Given the description of an element on the screen output the (x, y) to click on. 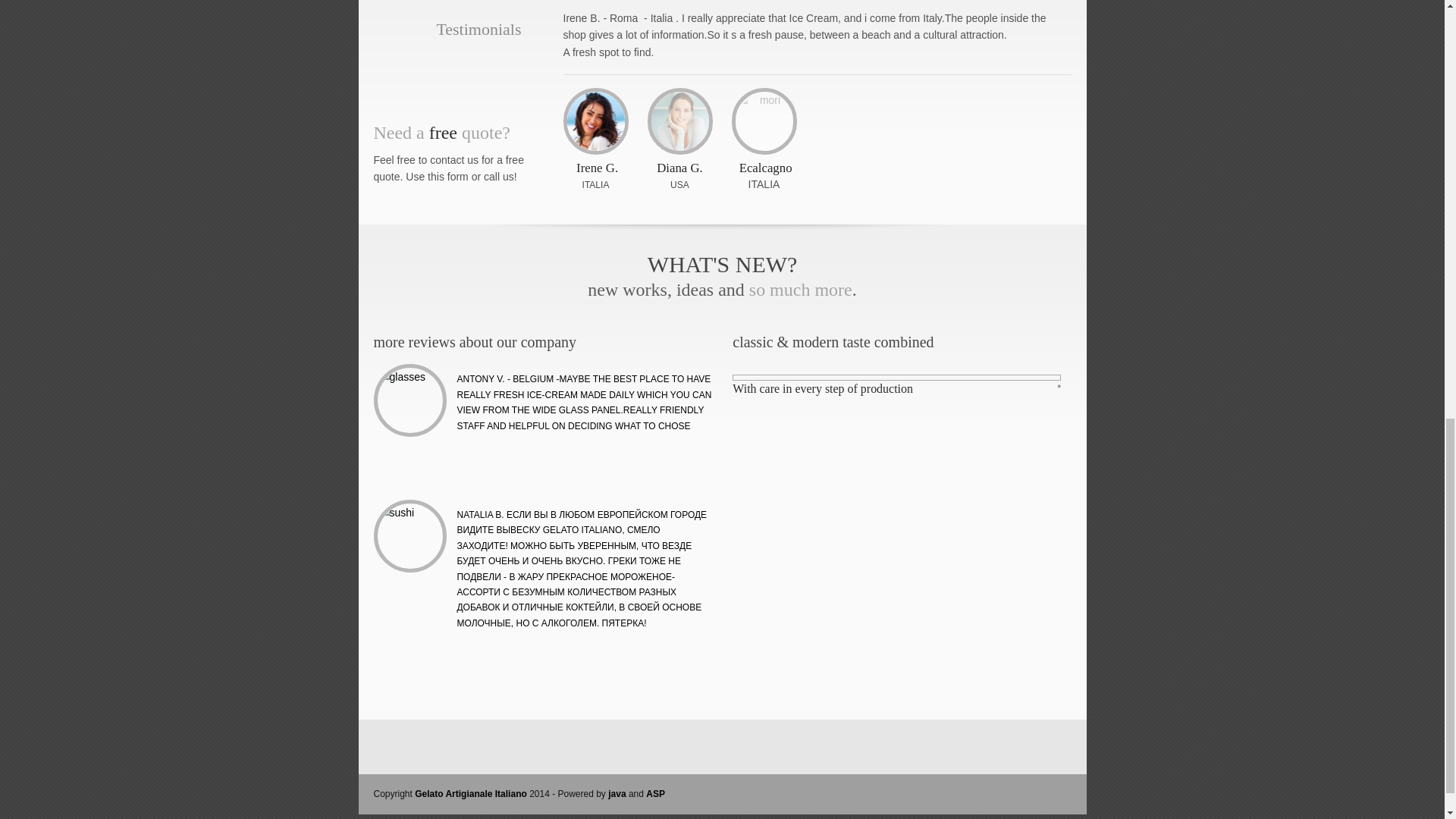
With care in every step of production (822, 388)
Facebook (899, 793)
SA (682, 184)
A fresh and nice blog layout: do u like it? (584, 398)
ITALIA (596, 184)
Twitter (991, 793)
mori (764, 120)
glasses (409, 400)
Rss (922, 793)
